Given the description of an element on the screen output the (x, y) to click on. 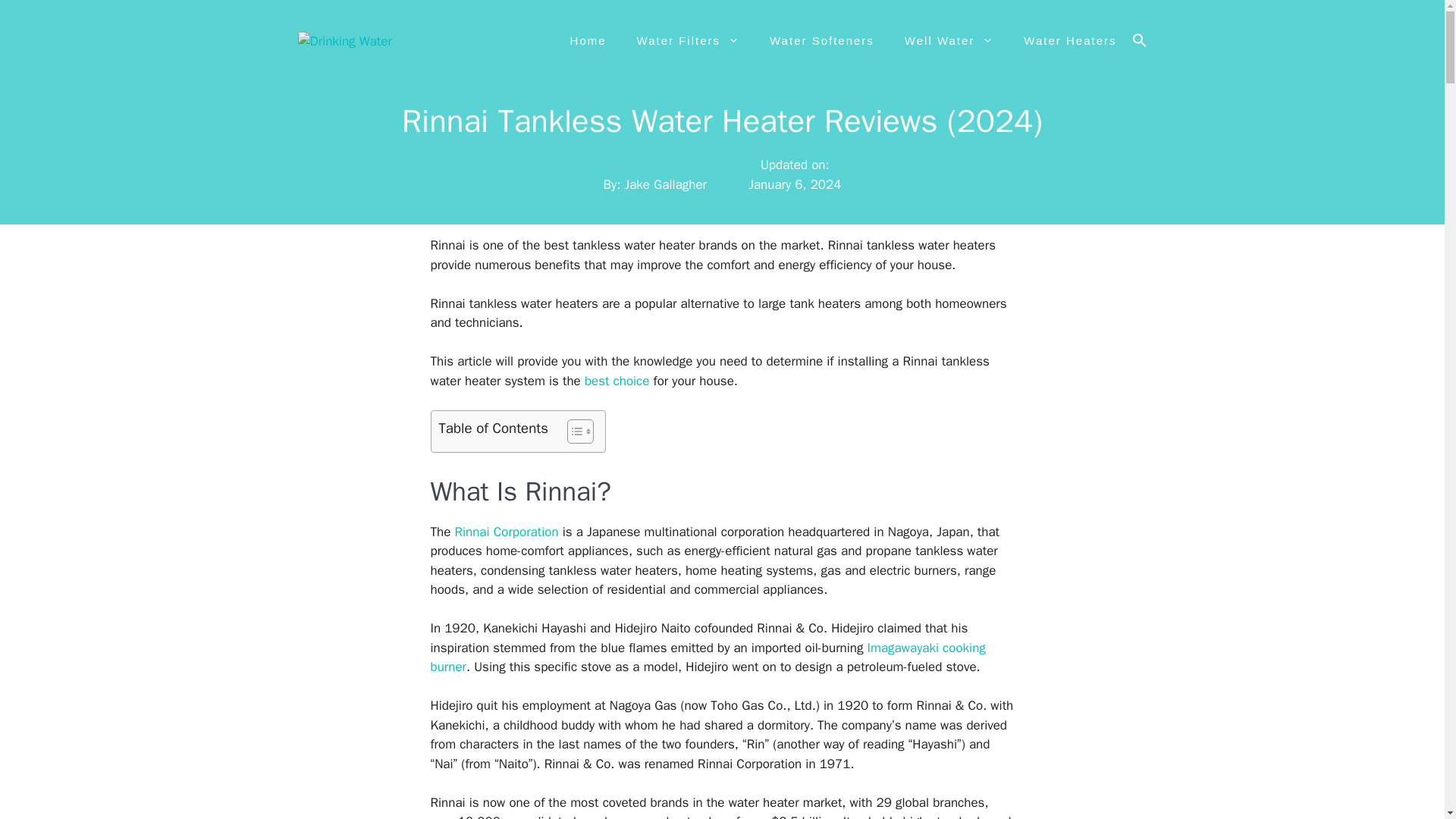
Well Water (949, 40)
Water Heaters (1070, 40)
Home (587, 40)
Water Filters (687, 40)
Water Softeners (821, 40)
